Given the description of an element on the screen output the (x, y) to click on. 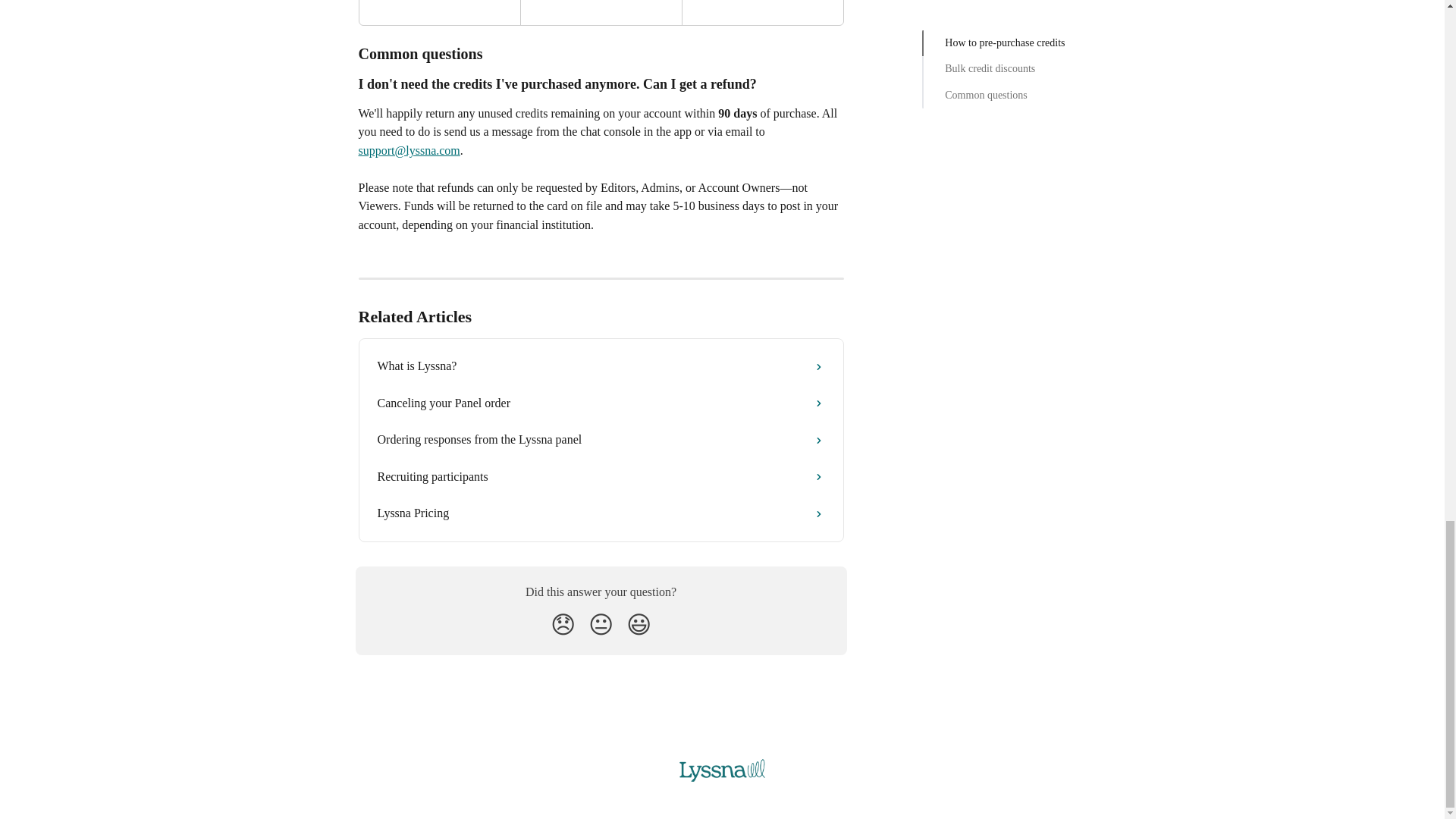
Ordering responses from the Lyssna panel (601, 439)
Disappointed (562, 624)
What is Lyssna? (601, 366)
Neutral (600, 624)
Smiley (638, 624)
Lyssna Pricing (601, 513)
Recruiting participants (601, 476)
Canceling your Panel order (601, 402)
